Given the description of an element on the screen output the (x, y) to click on. 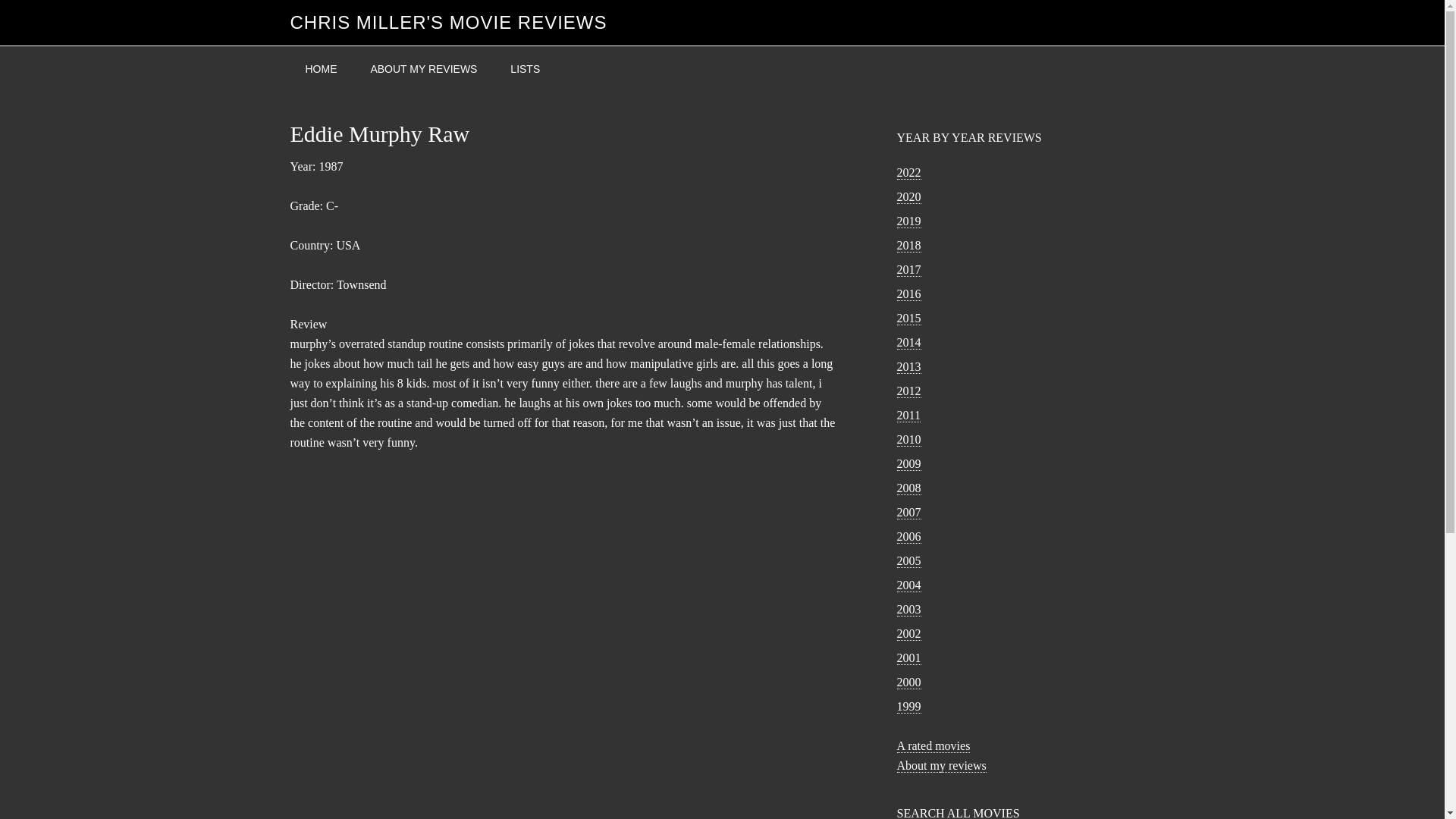
ABOUT MY REVIEWS (423, 68)
2018 (908, 245)
2001 (908, 658)
2017 (908, 269)
2009 (908, 463)
2005 (908, 561)
2020 (908, 196)
HOME (320, 68)
2012 (908, 391)
2002 (908, 633)
